Given the description of an element on the screen output the (x, y) to click on. 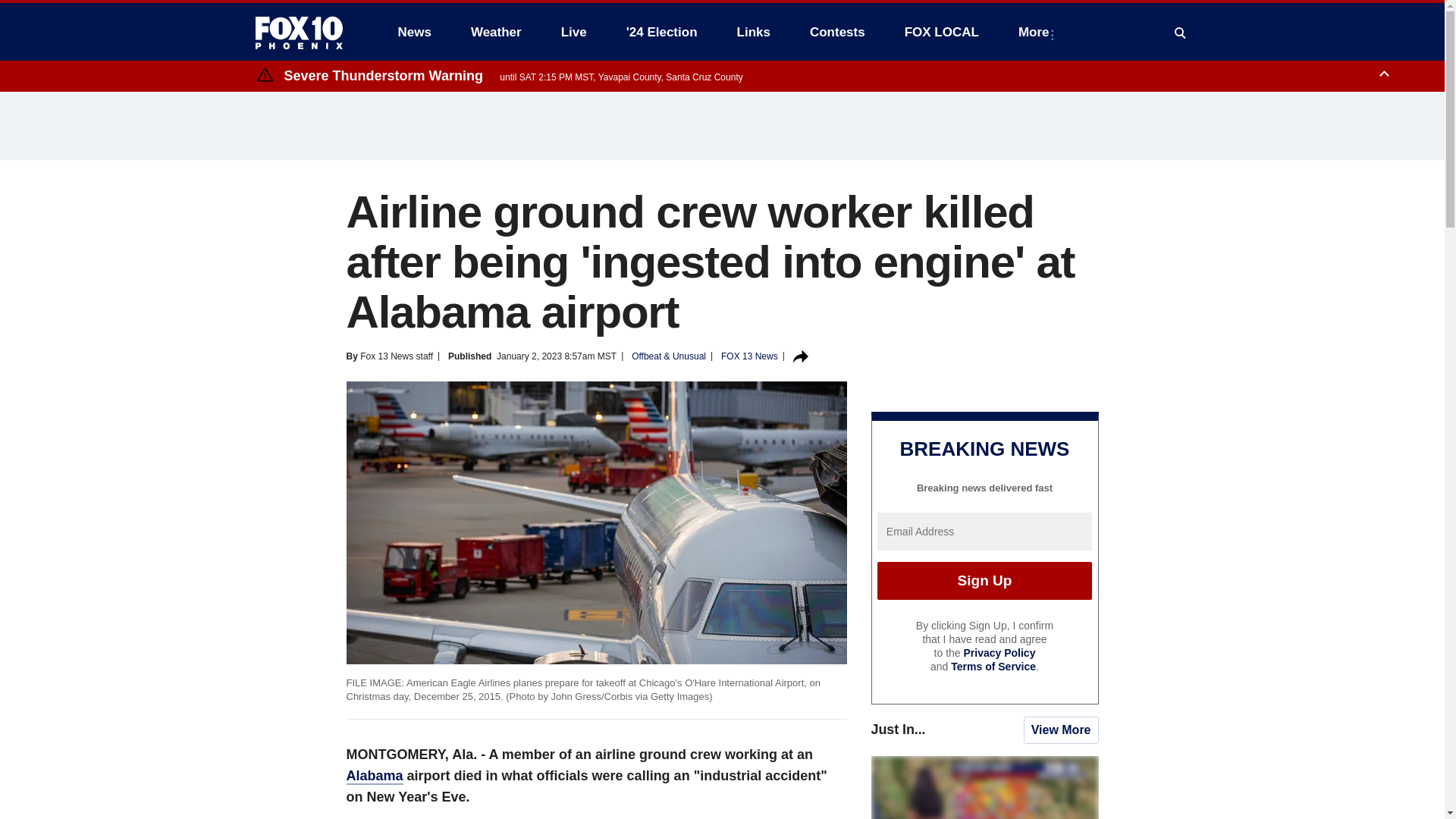
Weather (496, 32)
More (1036, 32)
Live (573, 32)
FOX LOCAL (941, 32)
'24 Election (662, 32)
Contests (837, 32)
Sign Up (984, 580)
Links (754, 32)
News (413, 32)
